Given the description of an element on the screen output the (x, y) to click on. 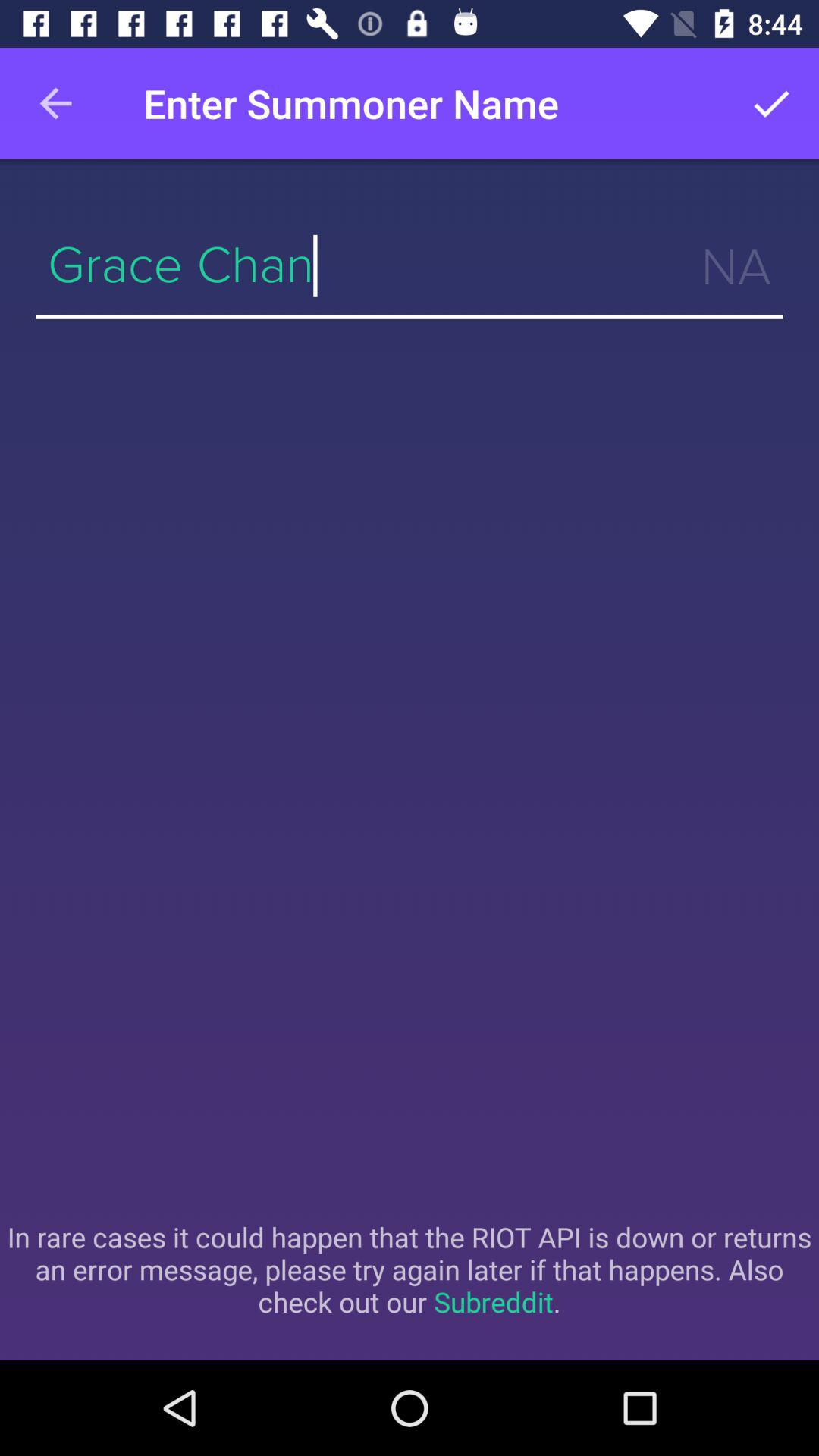
swipe to grace chan item (409, 265)
